Given the description of an element on the screen output the (x, y) to click on. 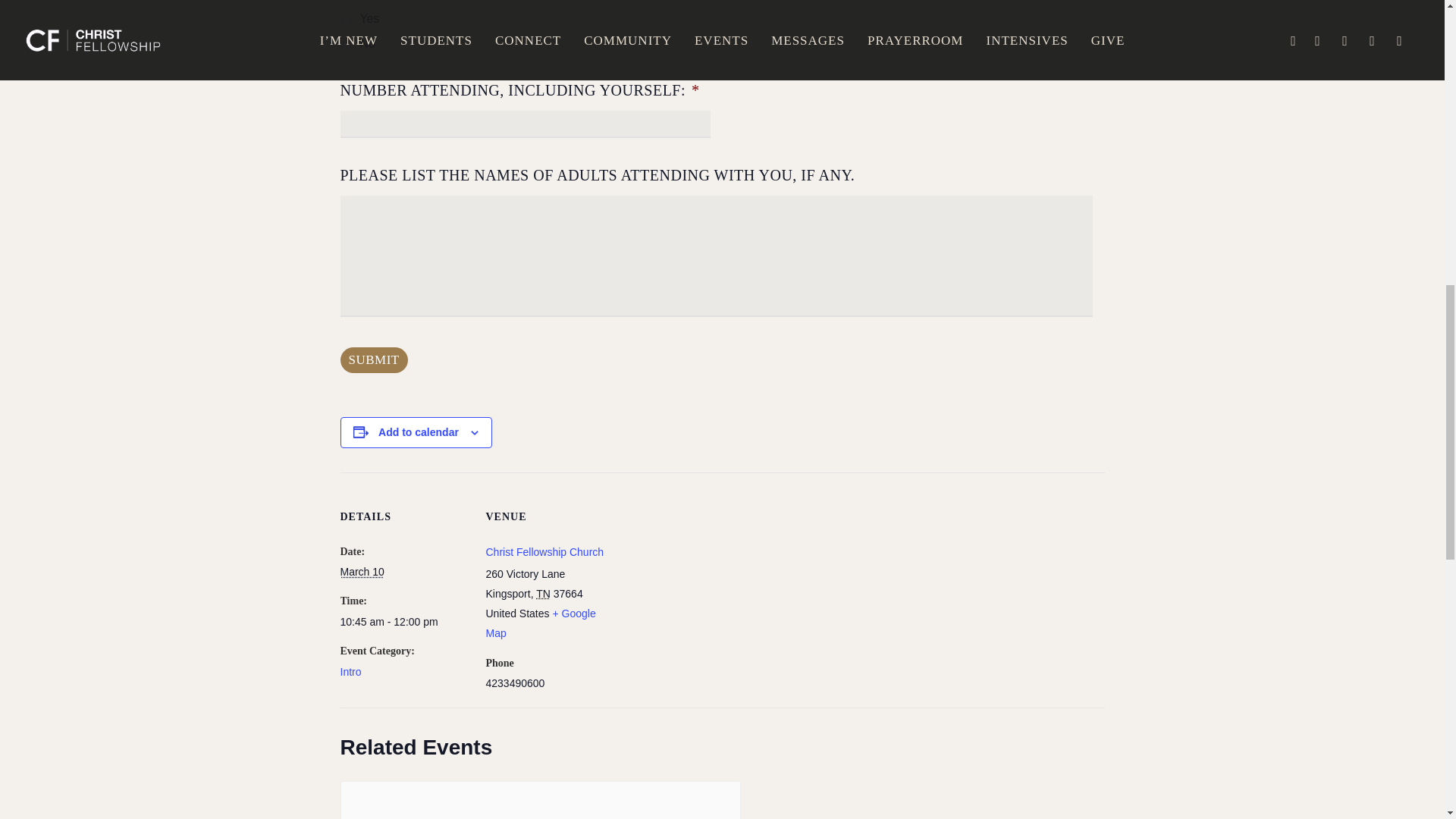
Add to calendar (418, 431)
Submit (373, 360)
Submit (373, 360)
Click to view a Google Map (539, 623)
No (345, 45)
Yes (345, 20)
Tennessee (542, 593)
2024-03-10 (361, 571)
2024-03-10 (403, 621)
